Given the description of an element on the screen output the (x, y) to click on. 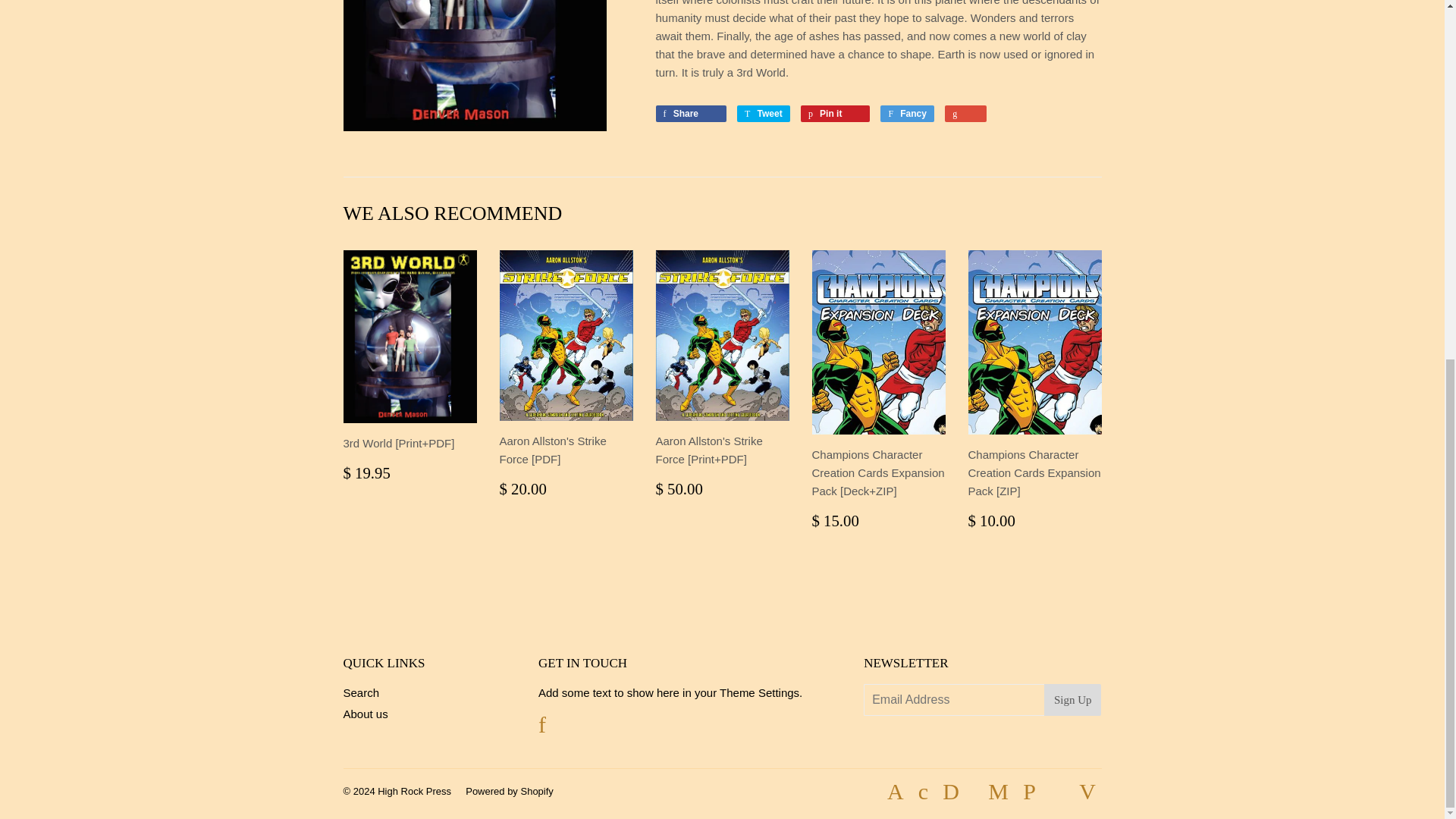
Tweet (763, 113)
Theme Settings (759, 692)
High Rock Press (414, 790)
Sign Up (1072, 699)
Search (360, 692)
Share (690, 113)
Fancy (907, 113)
Powered by Shopify (509, 790)
Pin it (834, 113)
About us (364, 713)
